Given the description of an element on the screen output the (x, y) to click on. 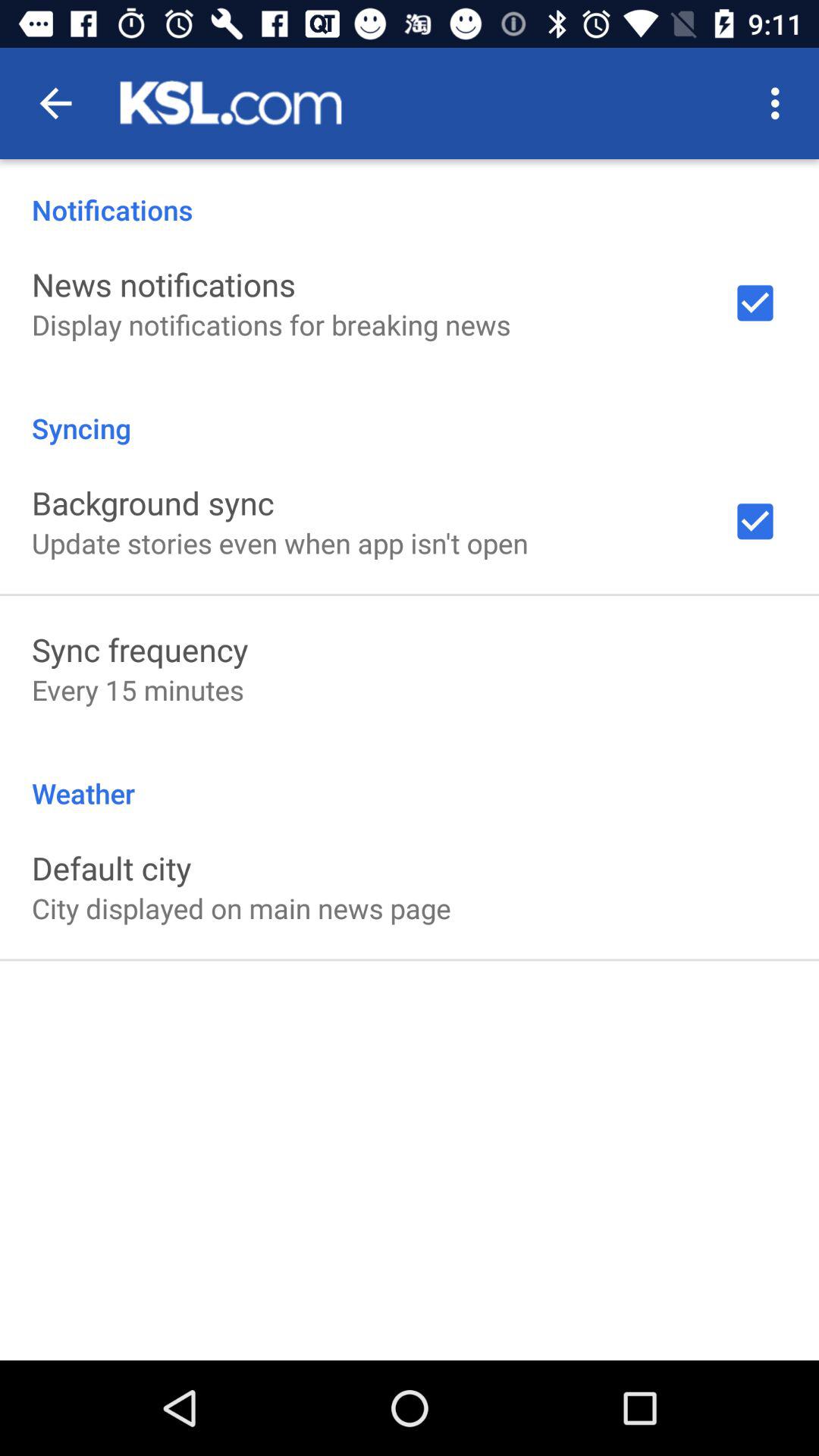
launch icon above the update stories even (152, 502)
